Given the description of an element on the screen output the (x, y) to click on. 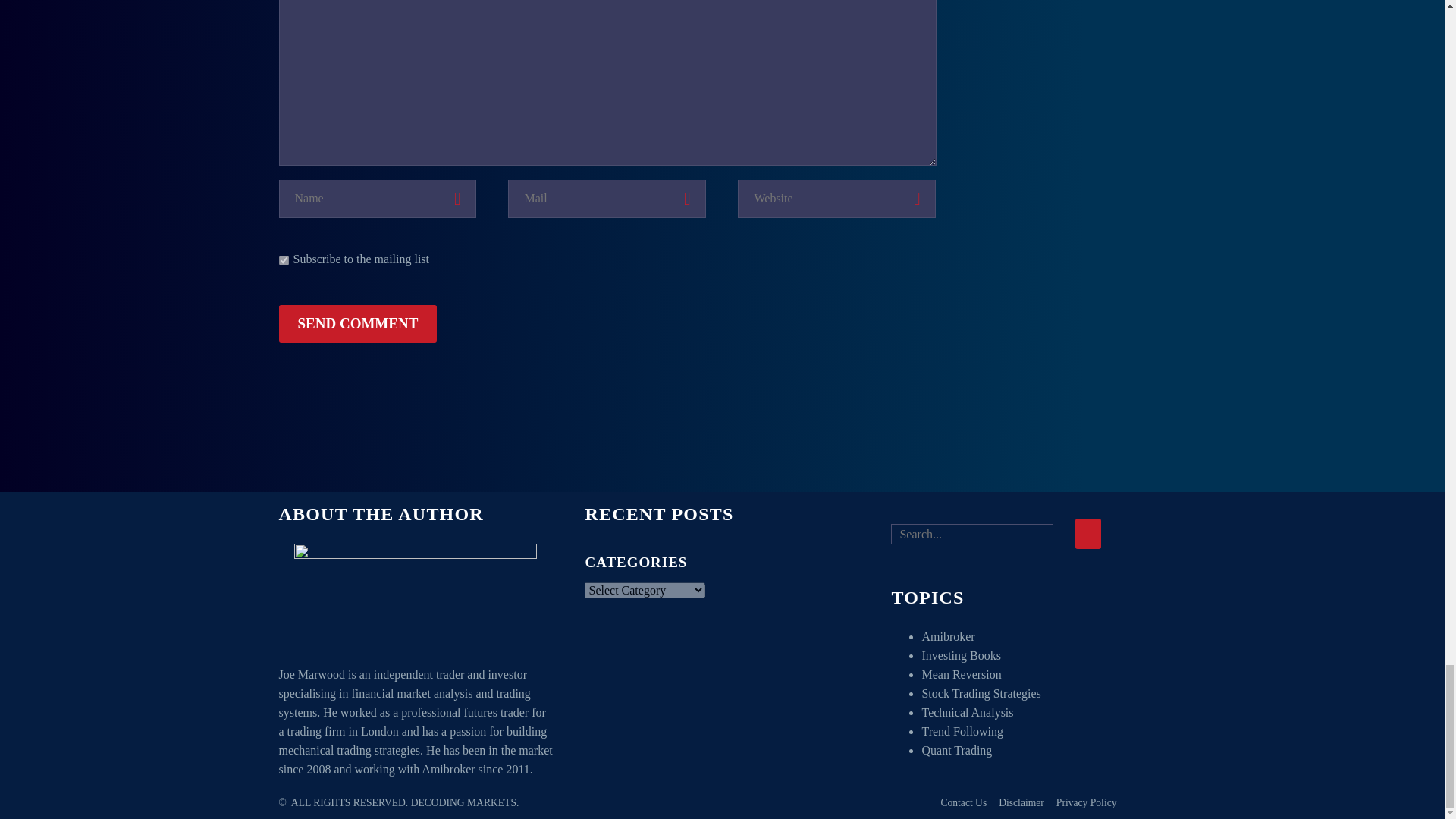
1 (283, 260)
